Given the description of an element on the screen output the (x, y) to click on. 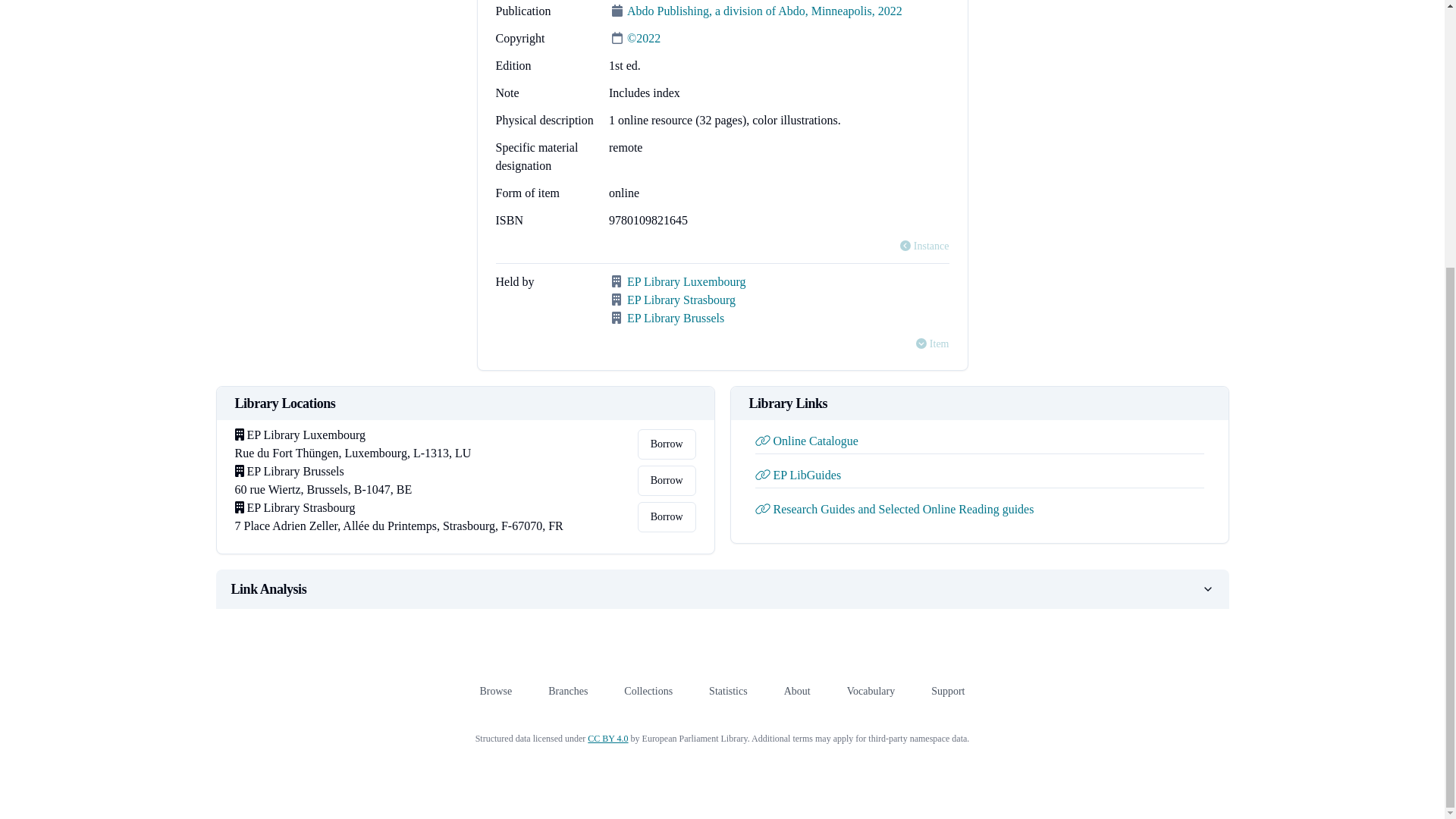
Borrow (666, 444)
EP Library Luxembourg (686, 281)
Borrow (666, 481)
Online Catalogue (807, 440)
Support (947, 690)
Vocabulary (871, 690)
Statistics (728, 690)
EP Library Brussels (675, 318)
Link Analysis (721, 589)
Browse (495, 690)
